Given the description of an element on the screen output the (x, y) to click on. 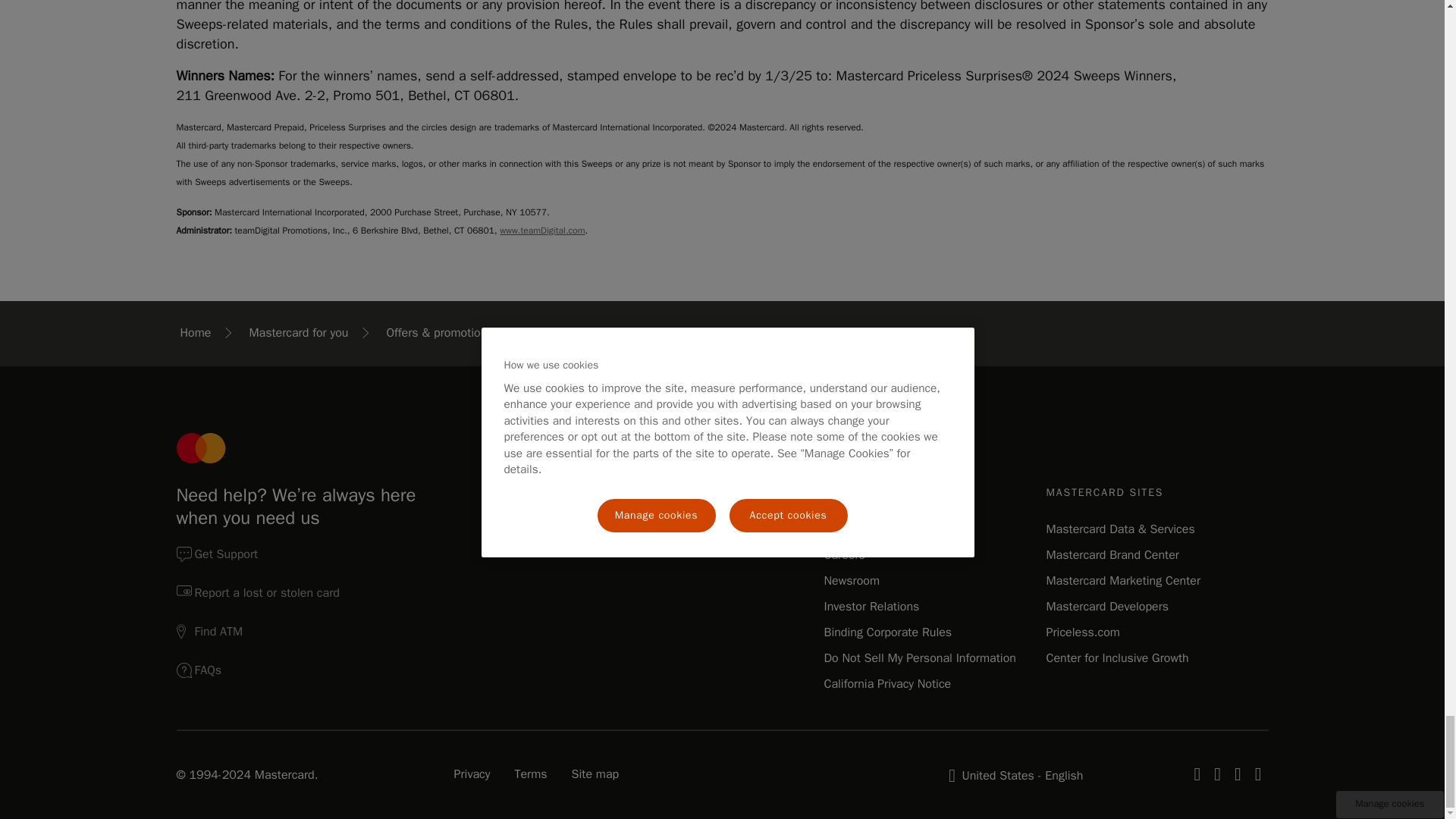
MC LOGO (200, 448)
